Given the description of an element on the screen output the (x, y) to click on. 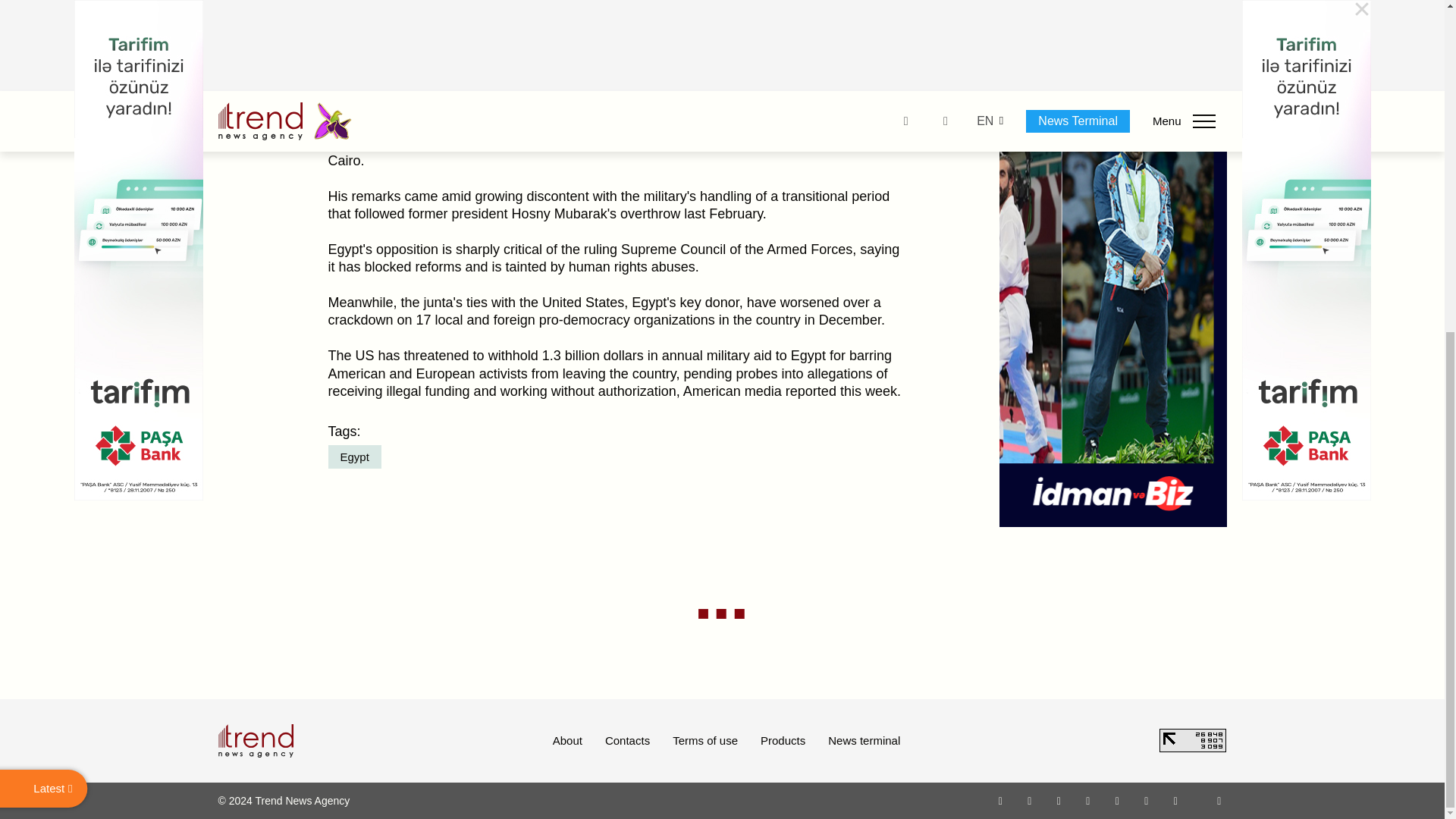
Facebook (1029, 800)
Twitter (1059, 800)
Whatsapp (1000, 800)
LinkedIn (1146, 800)
Youtube (1088, 800)
3rd party ad content (1112, 38)
Android App (1176, 800)
RSS Feed (1219, 800)
Telegram (1117, 800)
